Given the description of an element on the screen output the (x, y) to click on. 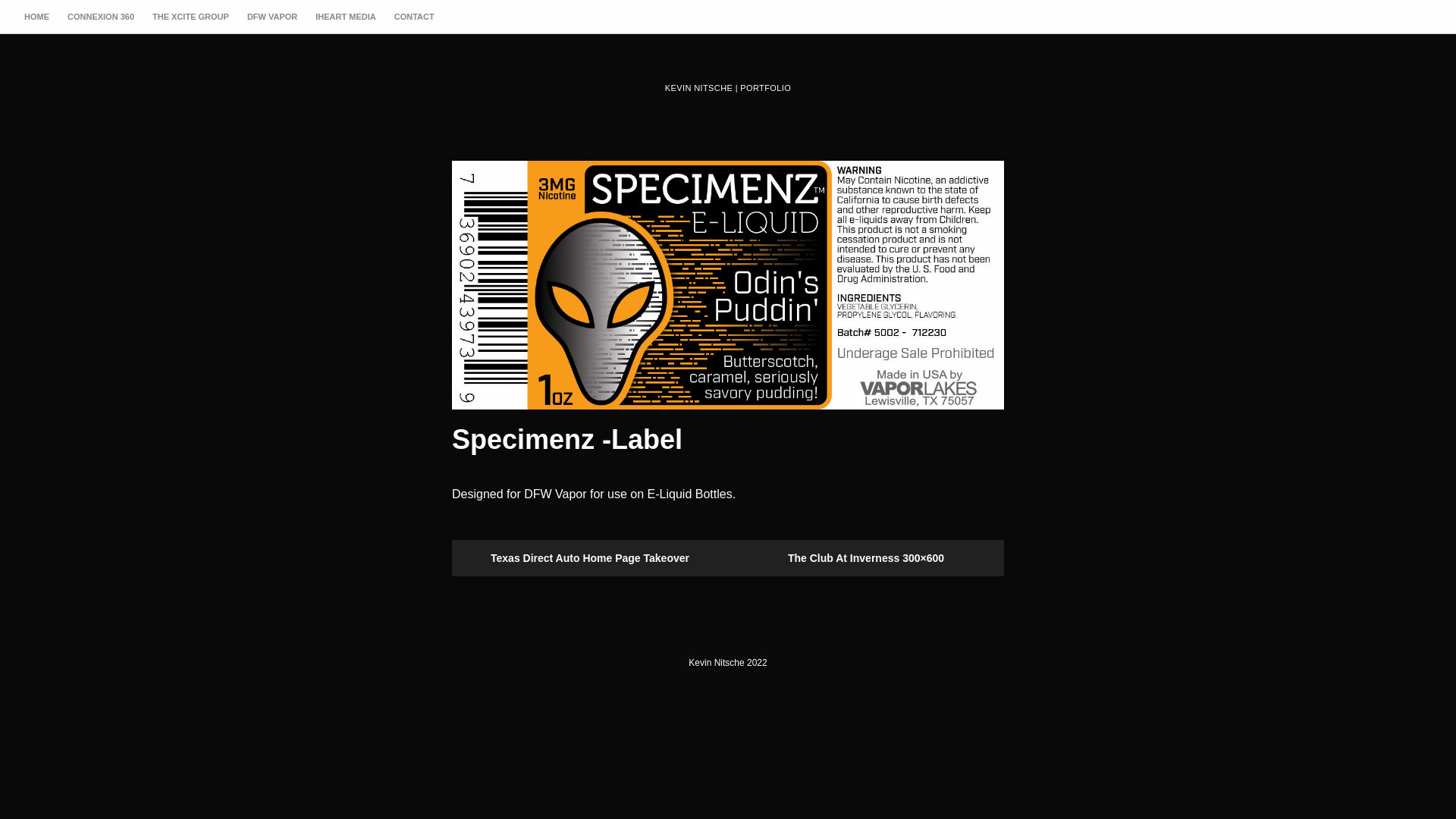
IHEART MEDIA Element type: text (345, 17)
Texas Direct Auto Home Page Takeover Element type: text (589, 557)
CONTACT Element type: text (414, 17)
Specimenz -Label Element type: hover (727, 285)
DFW VAPOR Element type: text (272, 17)
CONNEXION 360 Element type: text (100, 17)
HOME Element type: text (36, 17)
THE XCITE GROUP Element type: text (190, 17)
